Given the description of an element on the screen output the (x, y) to click on. 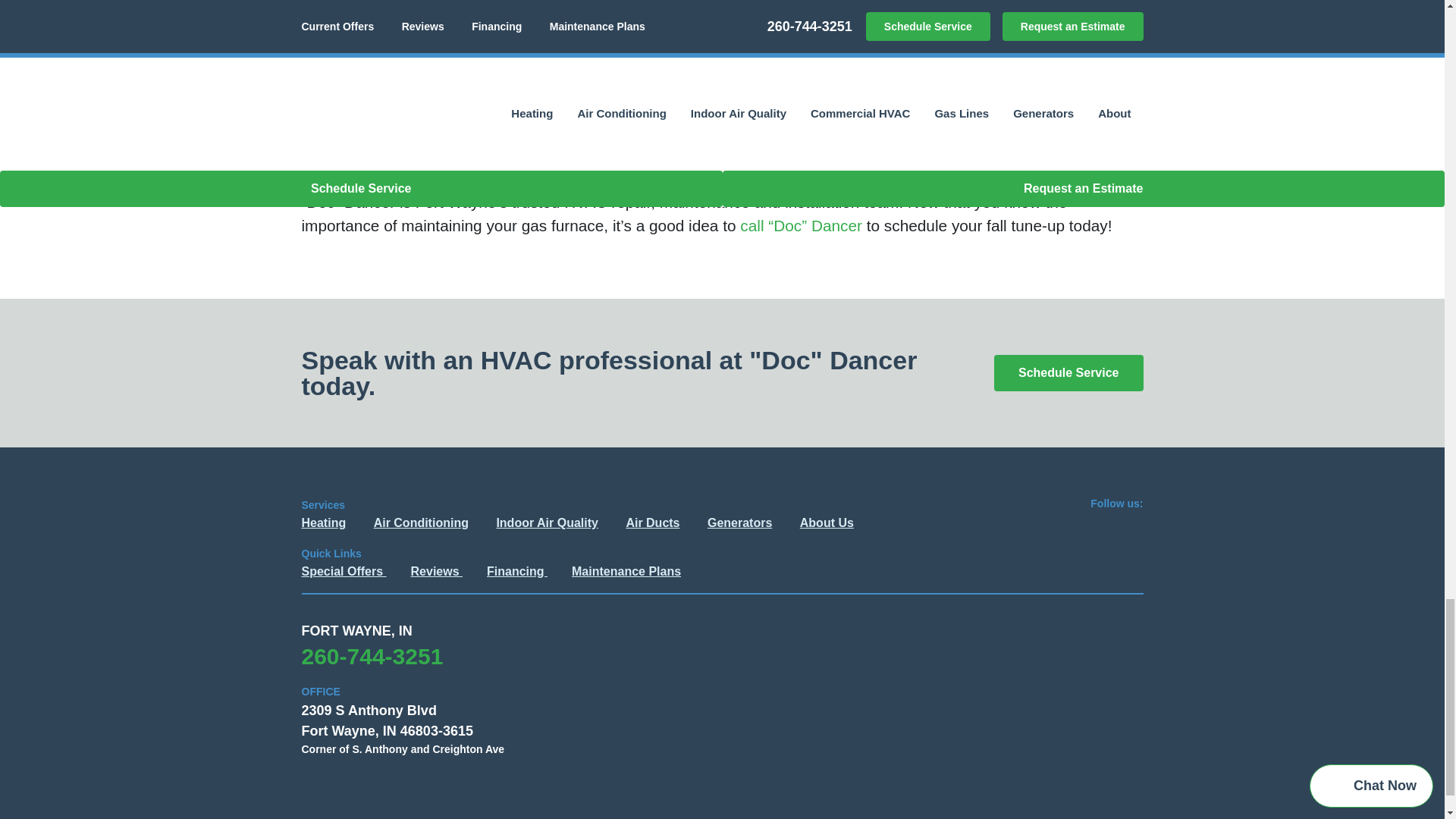
Air Ducts (652, 522)
Heating (323, 522)
Special Offers (344, 571)
About Us (826, 522)
Indoor Air Quality (547, 522)
Financing (516, 571)
Schedule Service (1068, 372)
Generators (739, 522)
Reviews (436, 571)
Air Conditioning (421, 522)
